Given the description of an element on the screen output the (x, y) to click on. 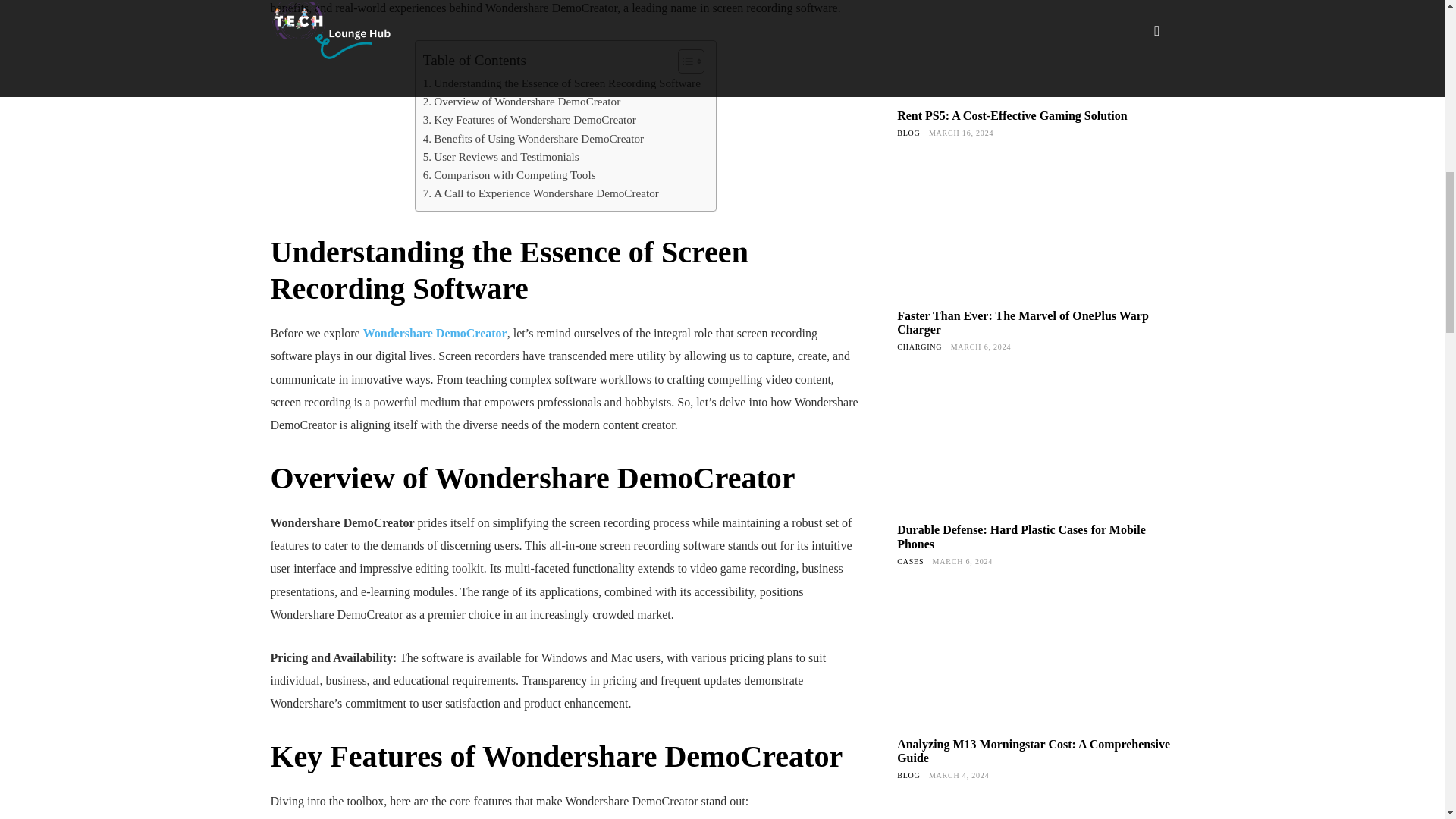
A Call to Experience Wondershare DemoCreator (541, 193)
Understanding the Essence of Screen Recording Software (561, 83)
Benefits of Using Wondershare DemoCreator (533, 137)
Key Features of Wondershare DemoCreator (529, 119)
Overview of Wondershare DemoCreator (521, 101)
Comparison with Competing Tools (509, 175)
User Reviews and Testimonials (501, 157)
Rent PS5: A Cost-Effective Gaming Solution (1034, 49)
